Given the description of an element on the screen output the (x, y) to click on. 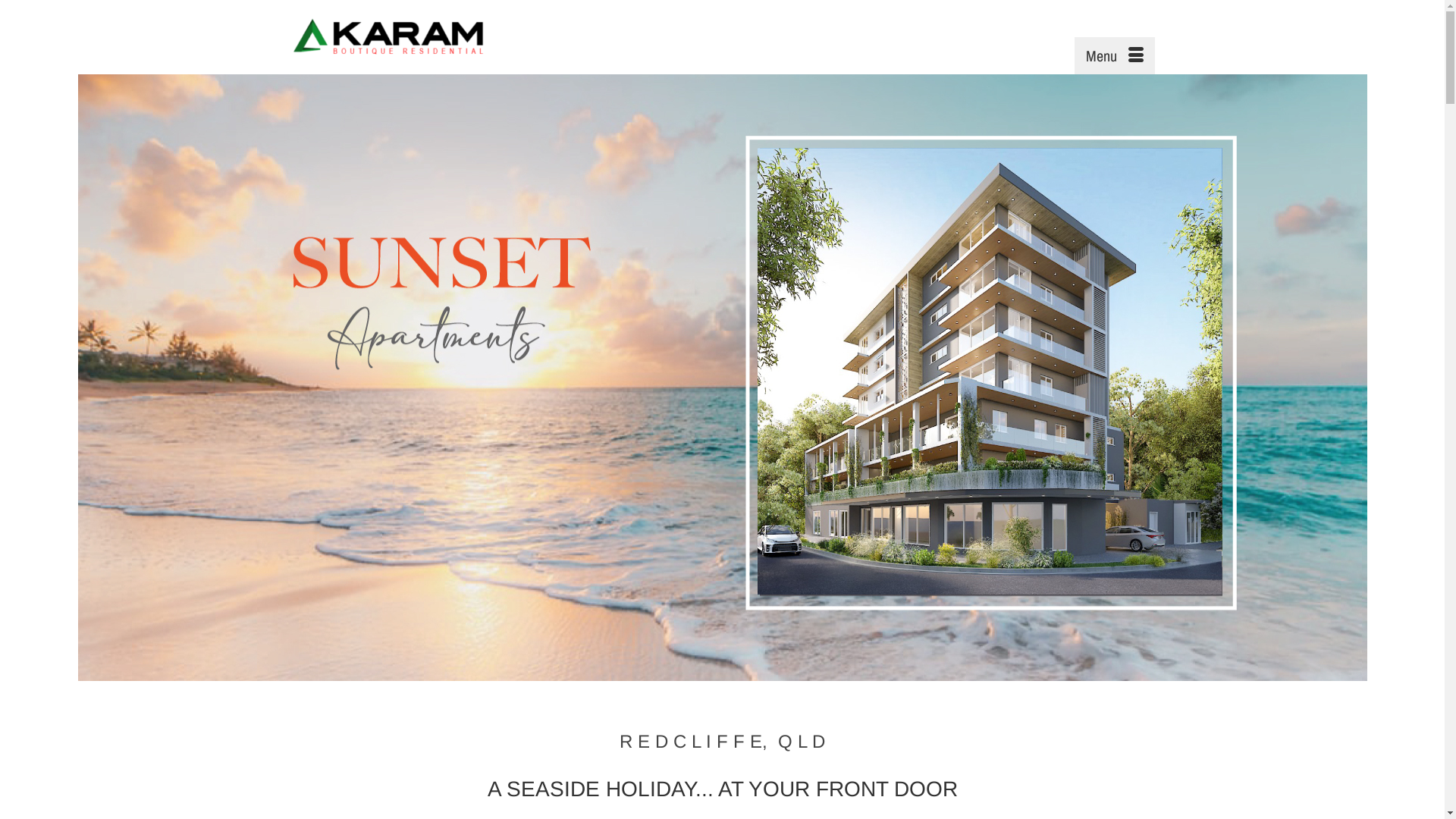
Karam Boutique Residential Element type: hover (425, 37)
Menu Element type: text (1113, 55)
slider Element type: hover (721, 377)
